Given the description of an element on the screen output the (x, y) to click on. 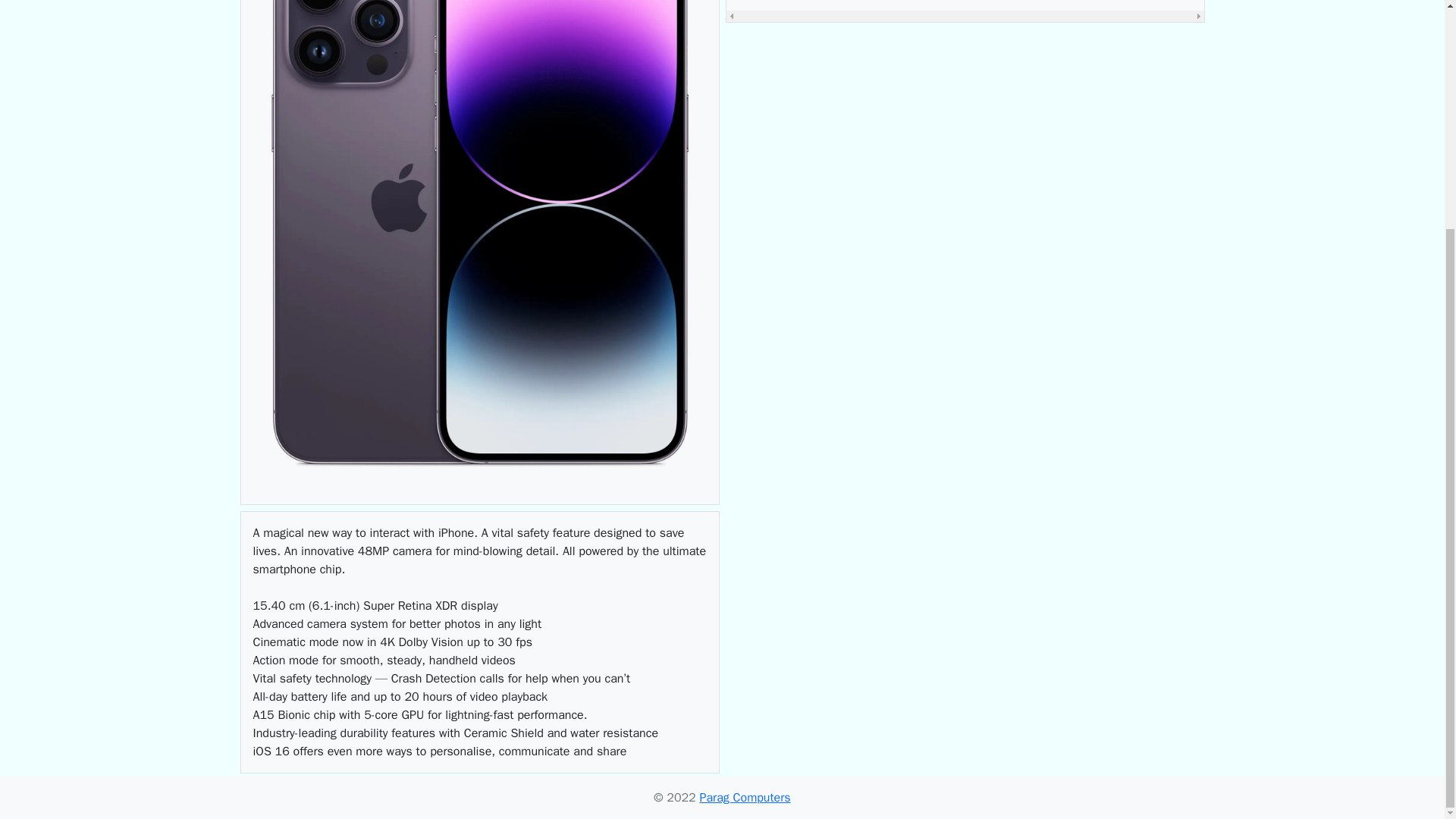
Parag Computers (744, 797)
